Given the description of an element on the screen output the (x, y) to click on. 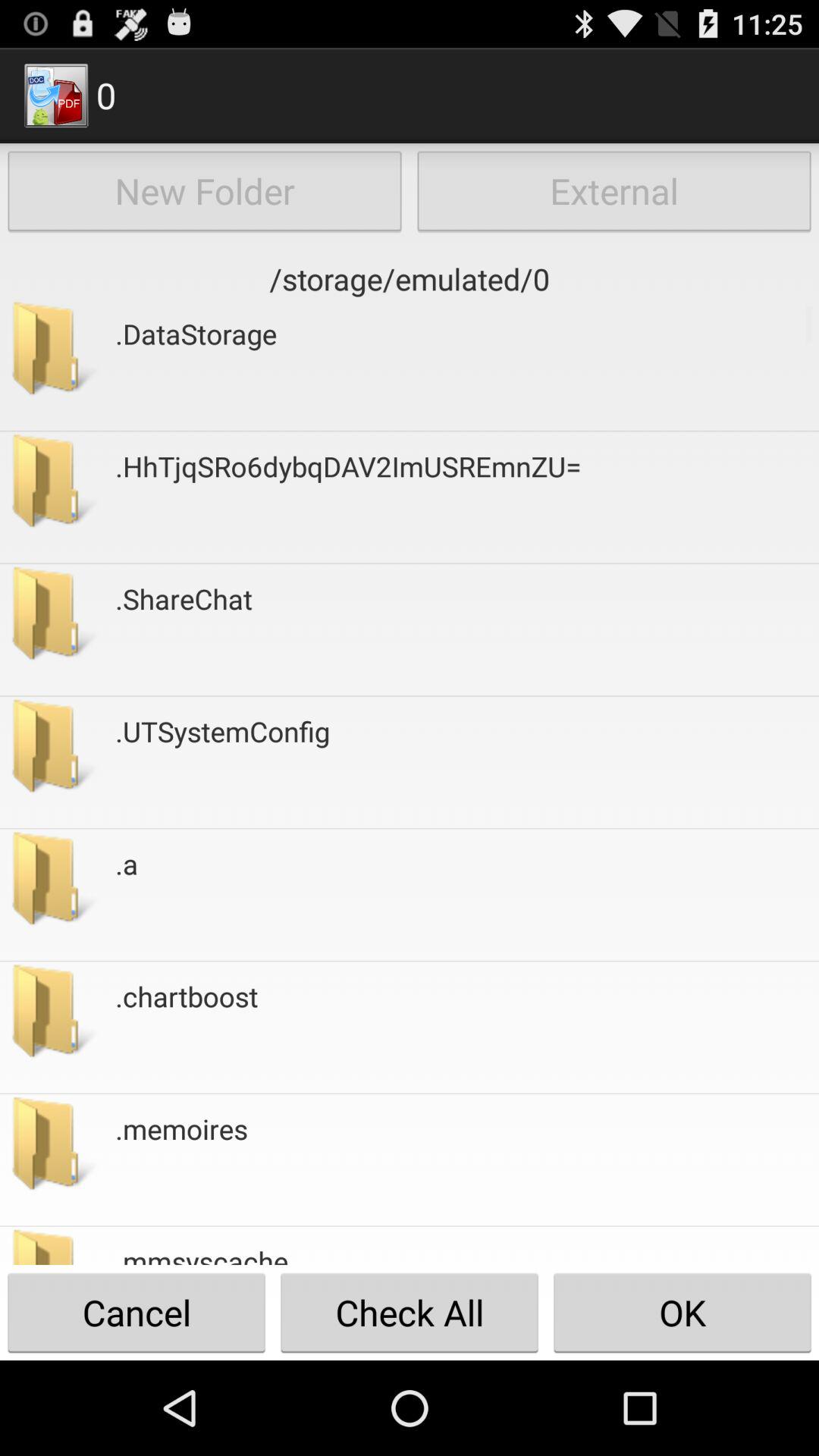
flip to the .mmsyscache app (201, 1253)
